Given the description of an element on the screen output the (x, y) to click on. 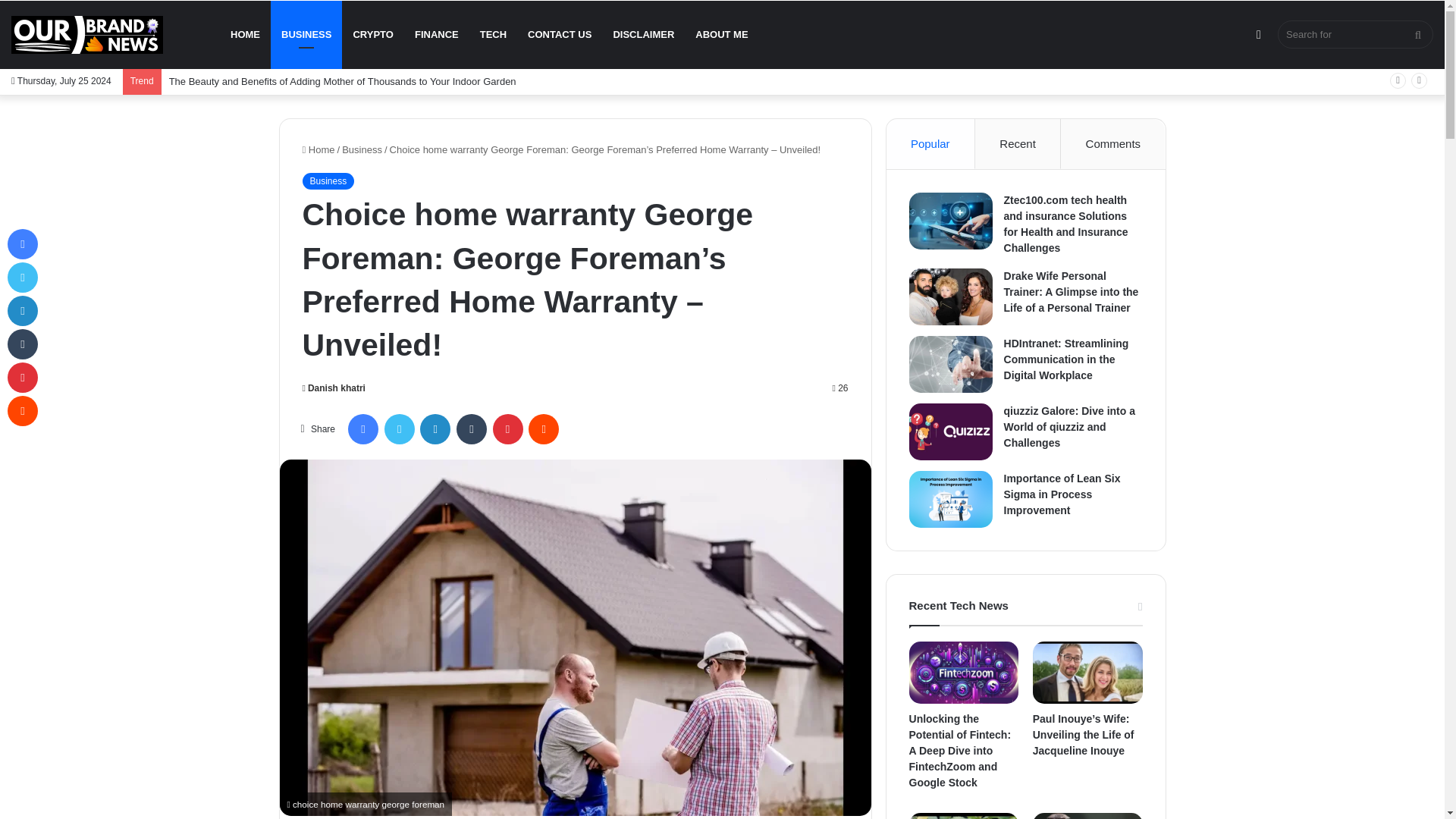
Tumblr (471, 429)
Facebook (362, 429)
Search for (1355, 34)
LinkedIn (434, 429)
DISCLAIMER (643, 34)
LinkedIn (434, 429)
CONTACT US (559, 34)
Business (361, 149)
Pinterest (507, 429)
ABOUT ME (721, 34)
Danish khatri (333, 388)
Home (317, 149)
Reddit (543, 429)
FINANCE (436, 34)
